Given the description of an element on the screen output the (x, y) to click on. 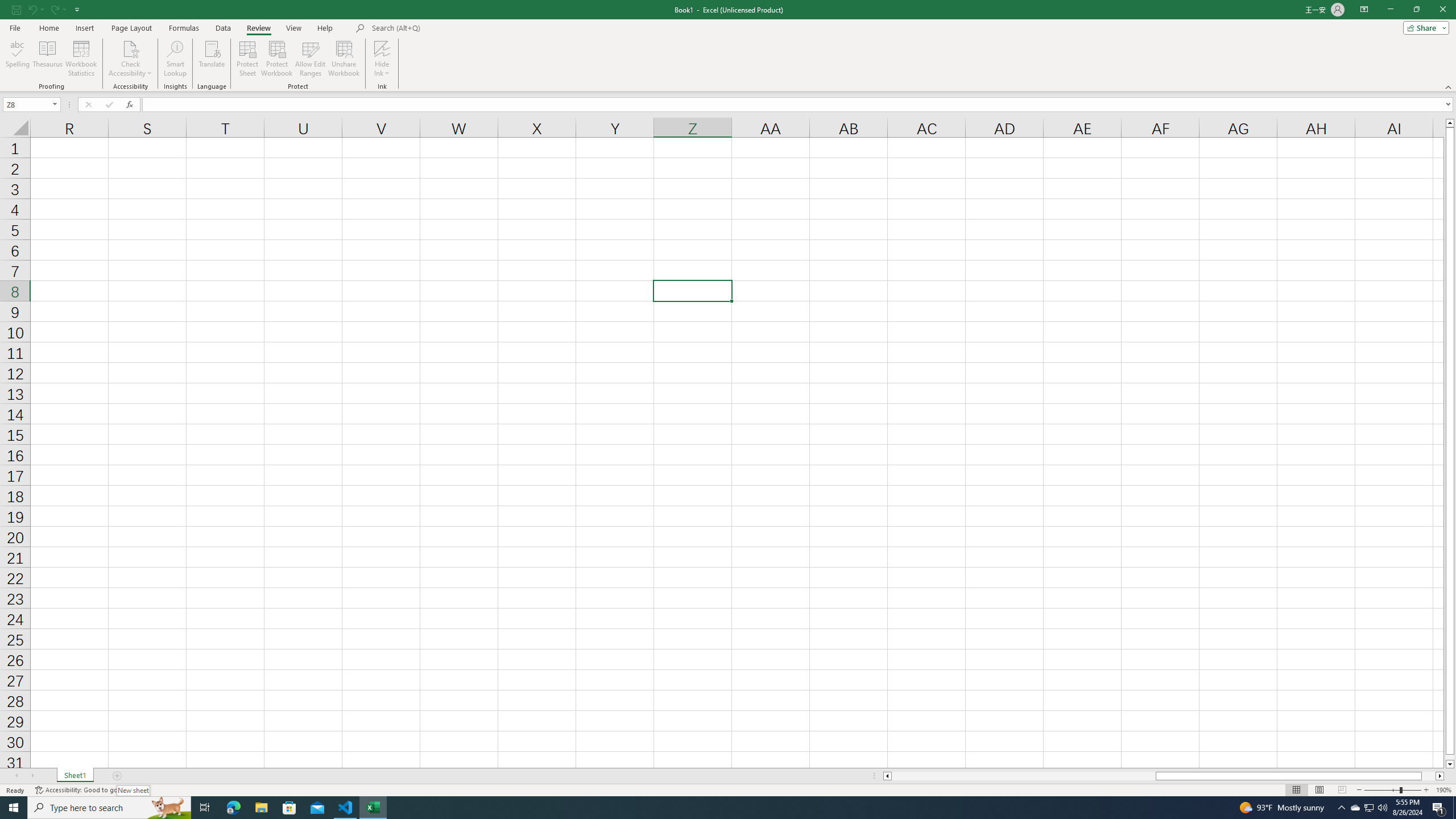
Check Accessibility (129, 48)
Thesaurus... (47, 58)
